Given the description of an element on the screen output the (x, y) to click on. 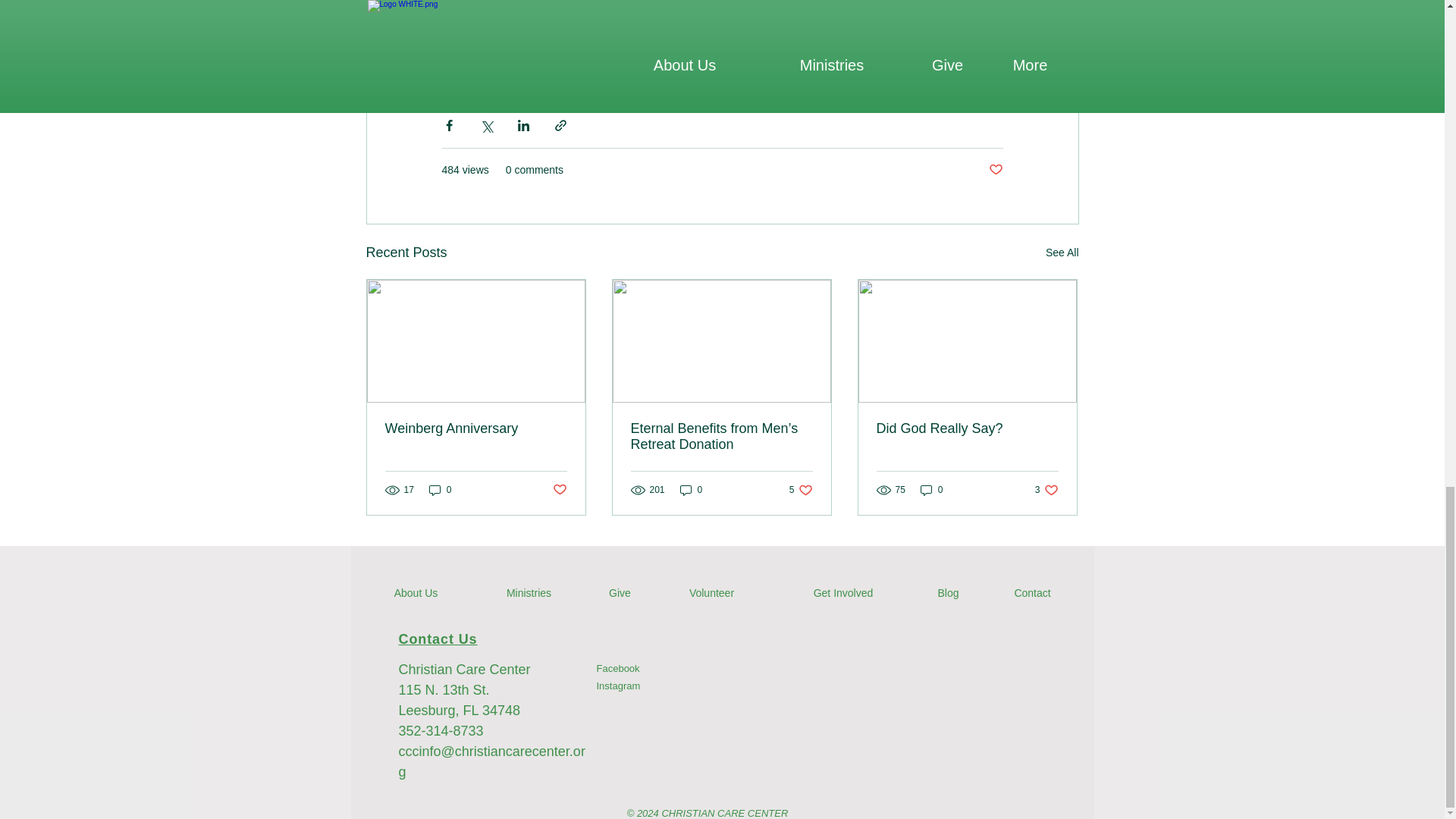
See All (1061, 252)
CLICK HERE (668, 32)
Post not marked as liked (995, 170)
CLICK HERE (481, 32)
